Given the description of an element on the screen output the (x, y) to click on. 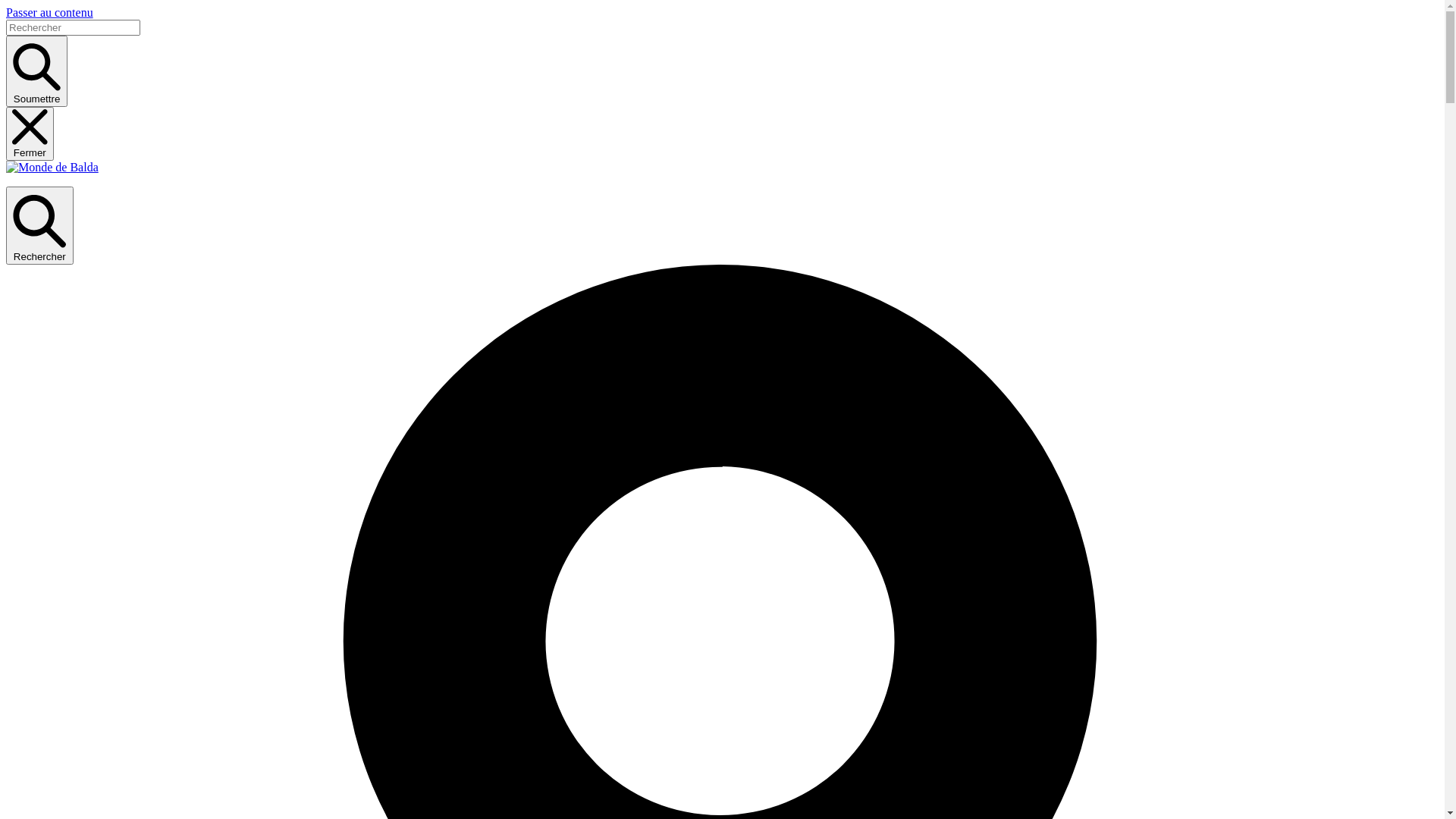
Soumettre Element type: text (36, 70)
Fermer Element type: text (29, 133)
Passer au contenu Element type: text (49, 12)
Rechercher Element type: text (39, 224)
